Given the description of an element on the screen output the (x, y) to click on. 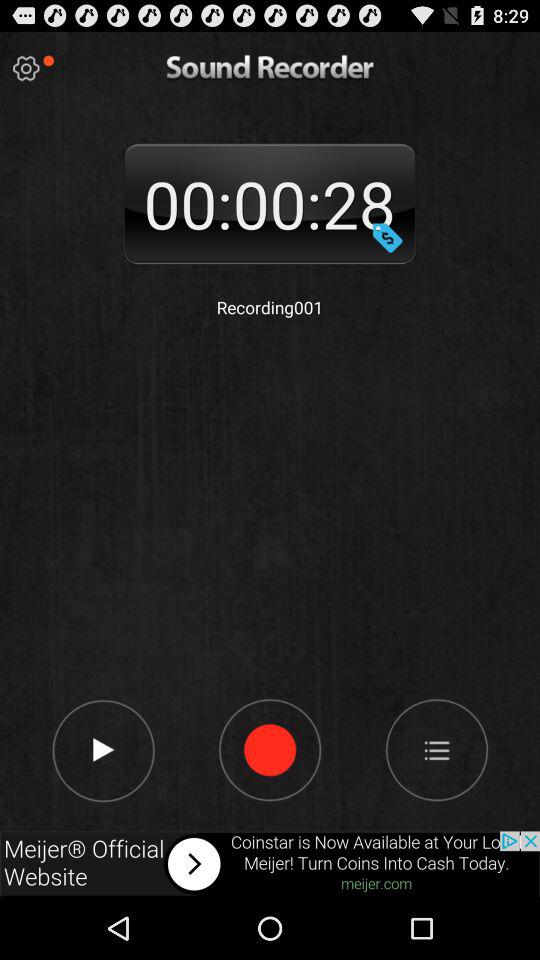
record button (387, 237)
